Given the description of an element on the screen output the (x, y) to click on. 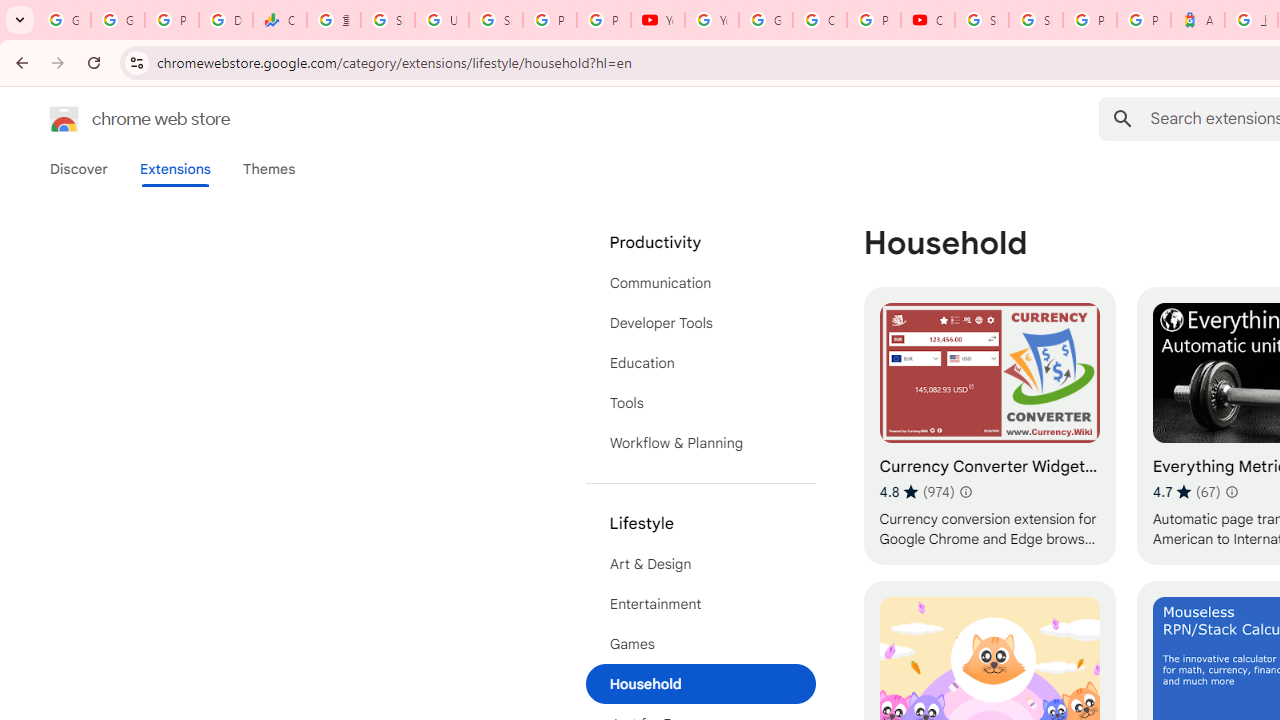
Workflow & Planning (700, 442)
Chrome Web Store logo chrome web store (118, 118)
Sign in - Google Accounts (387, 20)
Currency Converter Widget - Exchange Rates (989, 426)
Discover (79, 169)
Art & Design (700, 563)
Privacy Checkup (604, 20)
Games (700, 643)
Average rating 4.8 out of 5 stars. 974 ratings. (916, 491)
